Given the description of an element on the screen output the (x, y) to click on. 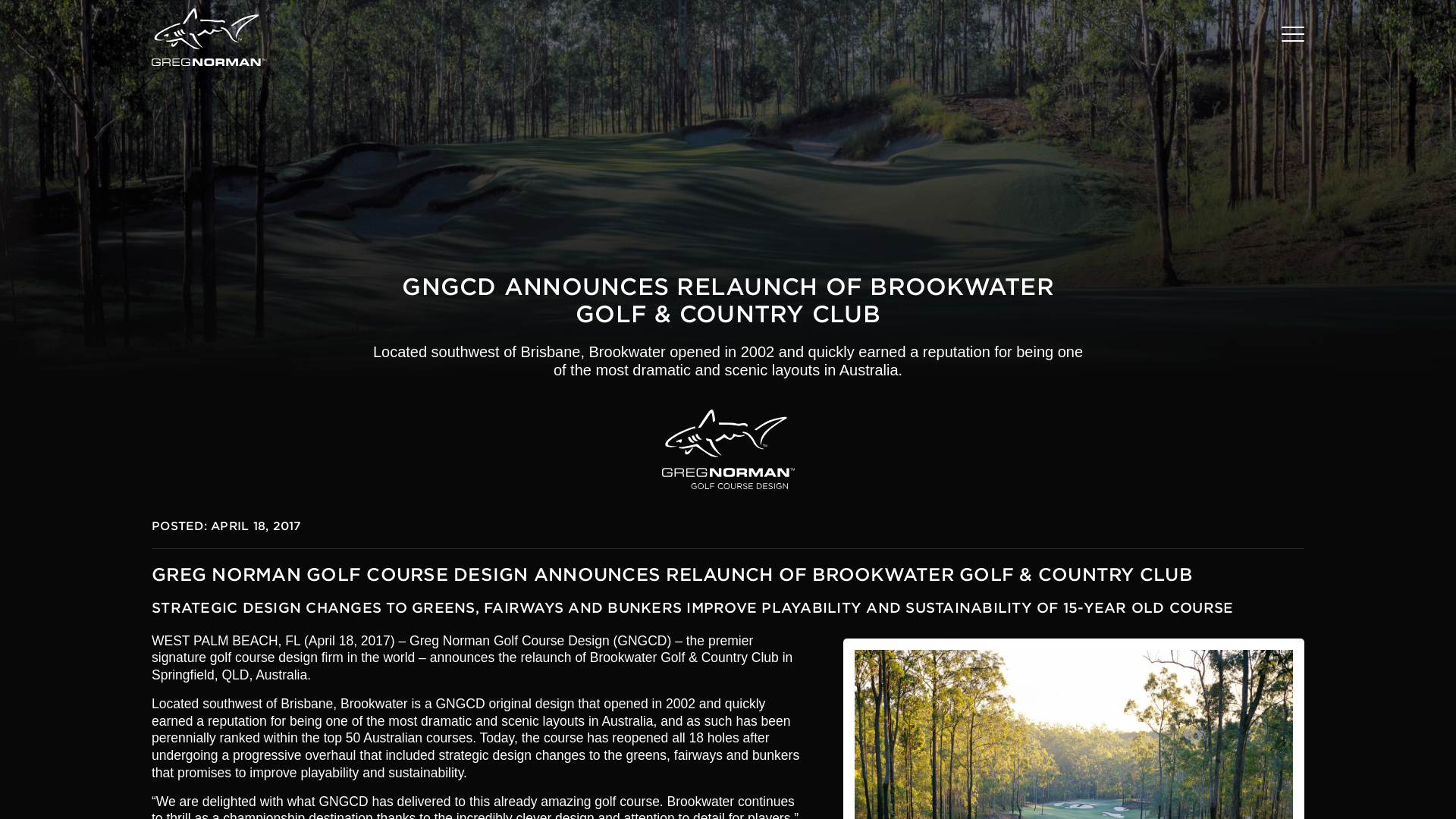
Greg Norman Golf Course Design (727, 448)
Brookwater (1073, 728)
